Given the description of an element on the screen output the (x, y) to click on. 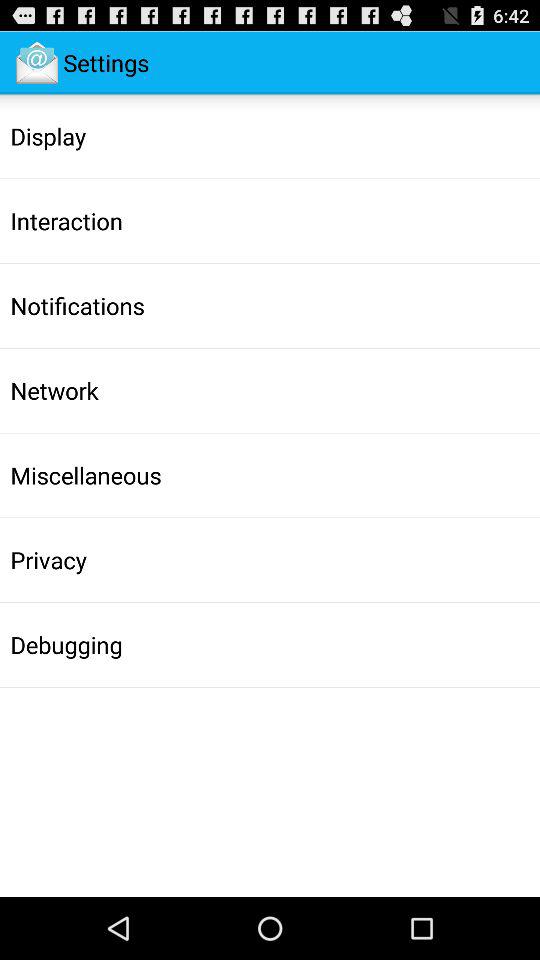
tap the network item (54, 390)
